Given the description of an element on the screen output the (x, y) to click on. 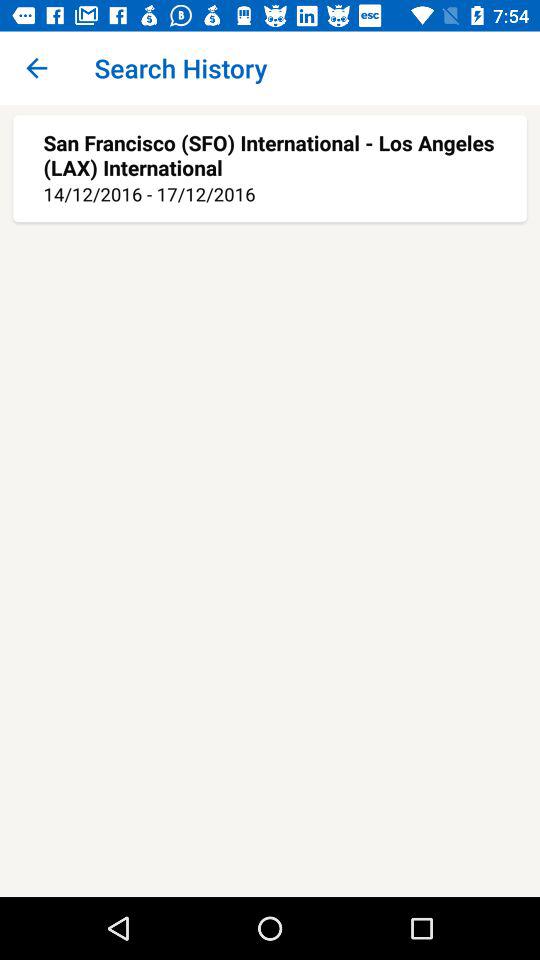
press icon to the left of search history app (36, 68)
